Given the description of an element on the screen output the (x, y) to click on. 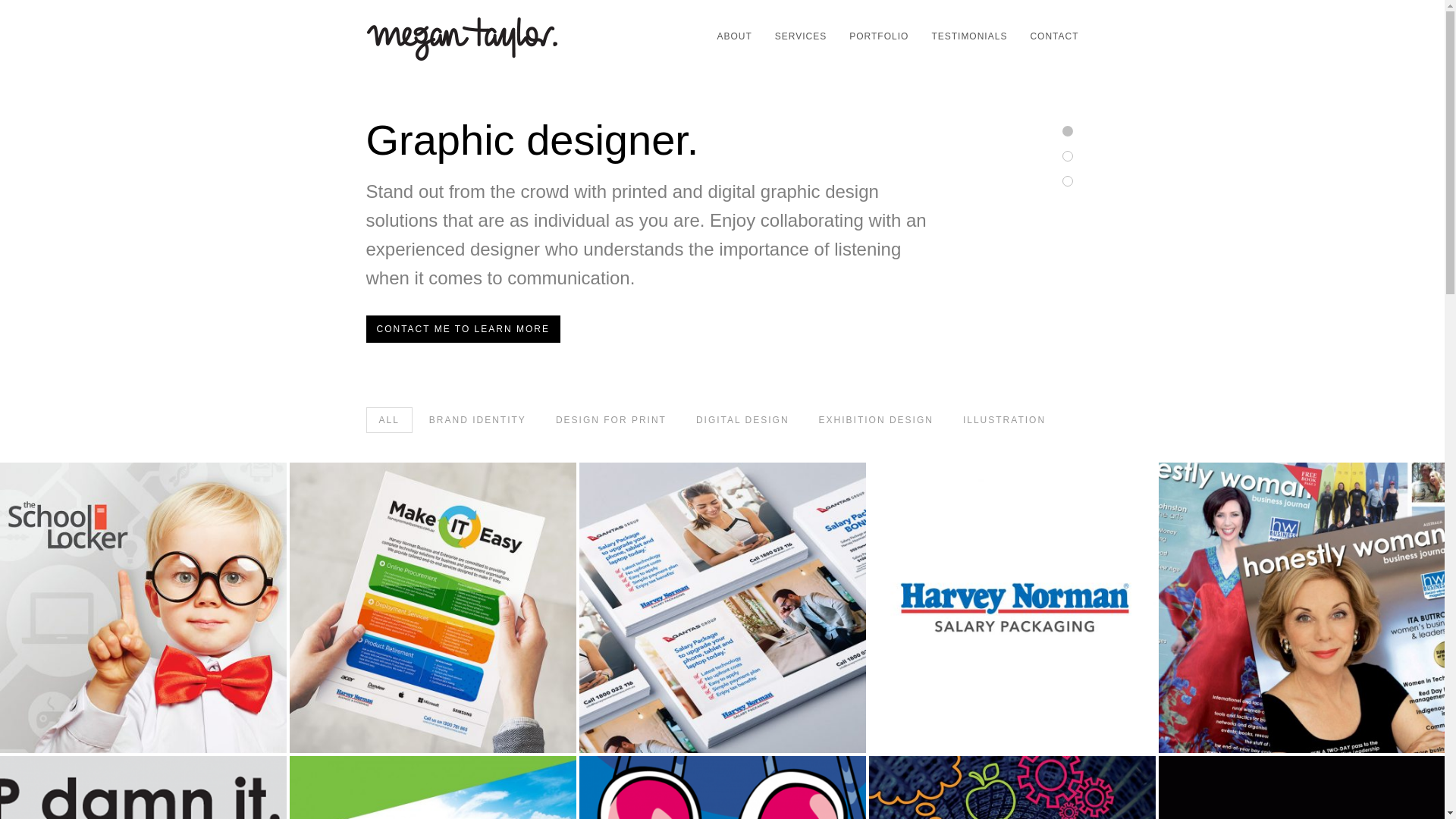
2 Element type: text (1066, 155)
HNBE Make IT Easy Element type: hover (432, 607)
DIGITAL DESIGN Element type: text (742, 420)
3 Element type: text (1066, 180)
PORTFOLIO Element type: text (872, 36)
SERVICES Element type: text (794, 36)
EXHIBITION DESIGN Element type: text (876, 420)
Honestly Woman Element type: hover (1301, 607)
QANTAS Group Element type: hover (722, 607)
1 Element type: text (1066, 130)
DESIGN FOR PRINT Element type: text (610, 420)
BRAND IDENTITY Element type: text (477, 420)
ALL Element type: text (388, 420)
The School Locker Element type: hover (143, 607)
Harvey Norman Salary Packaging Element type: hover (1012, 607)
ABOUT Element type: text (728, 36)
ILLUSTRATION Element type: text (1004, 420)
CONTACT ME TO LEARN MORE Element type: text (462, 328)
CONTACT Element type: text (1048, 36)
TESTIMONIALS Element type: text (963, 36)
